Given the description of an element on the screen output the (x, y) to click on. 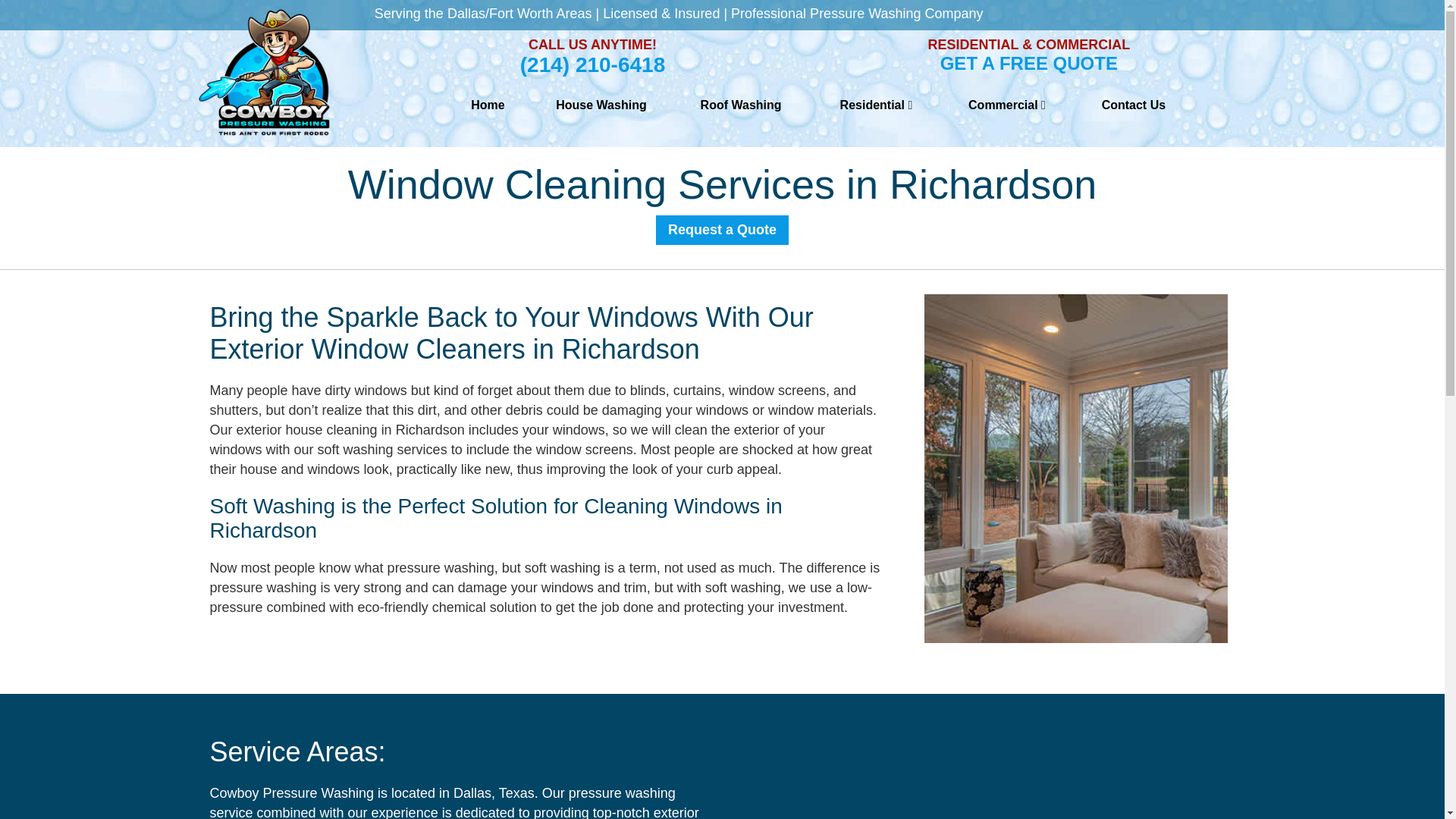
Commercial (1007, 104)
House Washing (601, 104)
Roof Washing (740, 104)
Home (487, 104)
Dallas Pressure and Soft Wash Services (487, 104)
GET A FREE QUOTE (1029, 63)
Contact Cowboy Pressure Washing in Dallas (1132, 104)
Residential (876, 104)
Cowboy Pressure Washing DFW (263, 71)
Request a Quote (722, 229)
